Given the description of an element on the screen output the (x, y) to click on. 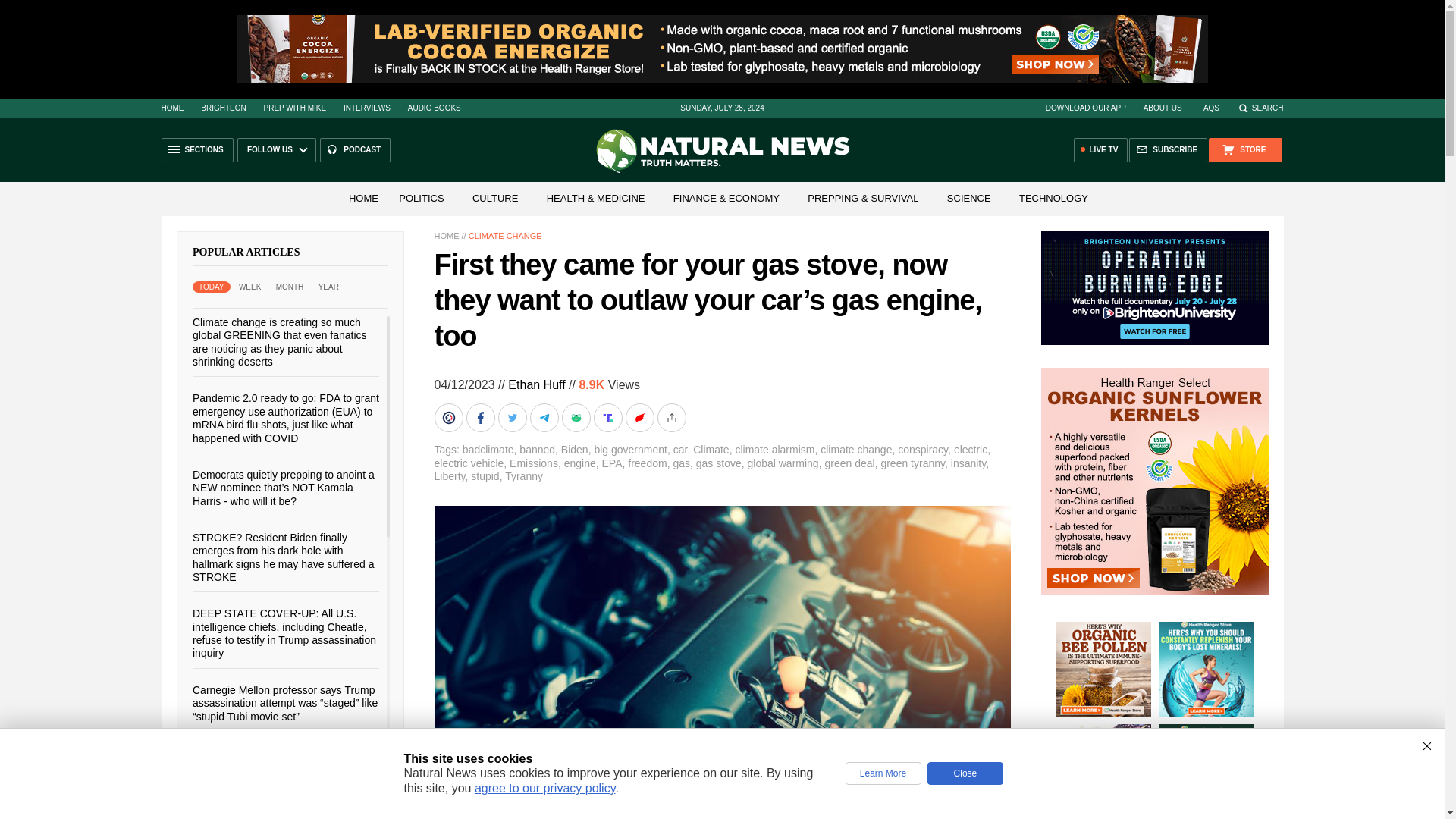
AUDIO BOOKS (434, 108)
STORE (1244, 150)
Share on Twitter (513, 417)
Share on GAB (576, 417)
SUBSCRIBE (1168, 150)
ABOUT US (1162, 108)
More Share Options (672, 417)
SCIENCE (968, 197)
Share on Telegram (544, 417)
INTERVIEWS (366, 108)
BRIGHTEON (223, 108)
PODCAST (355, 150)
HOME (363, 197)
